Given the description of an element on the screen output the (x, y) to click on. 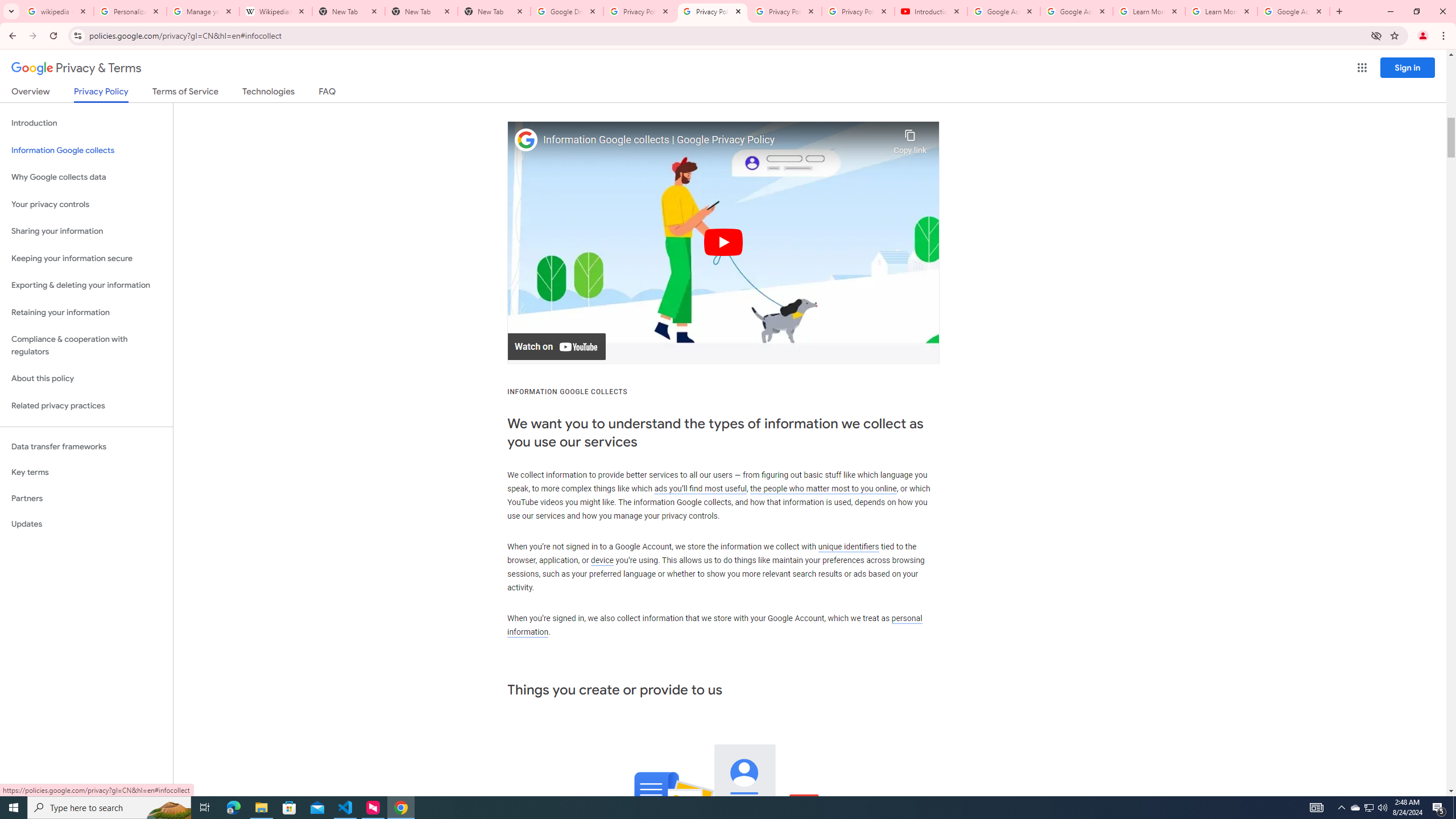
Compliance & cooperation with regulators (86, 345)
Wikipedia:Edit requests - Wikipedia (275, 11)
About this policy (86, 379)
Google Account Help (1003, 11)
New Tab (421, 11)
Exporting & deleting your information (86, 284)
